Given the description of an element on the screen output the (x, y) to click on. 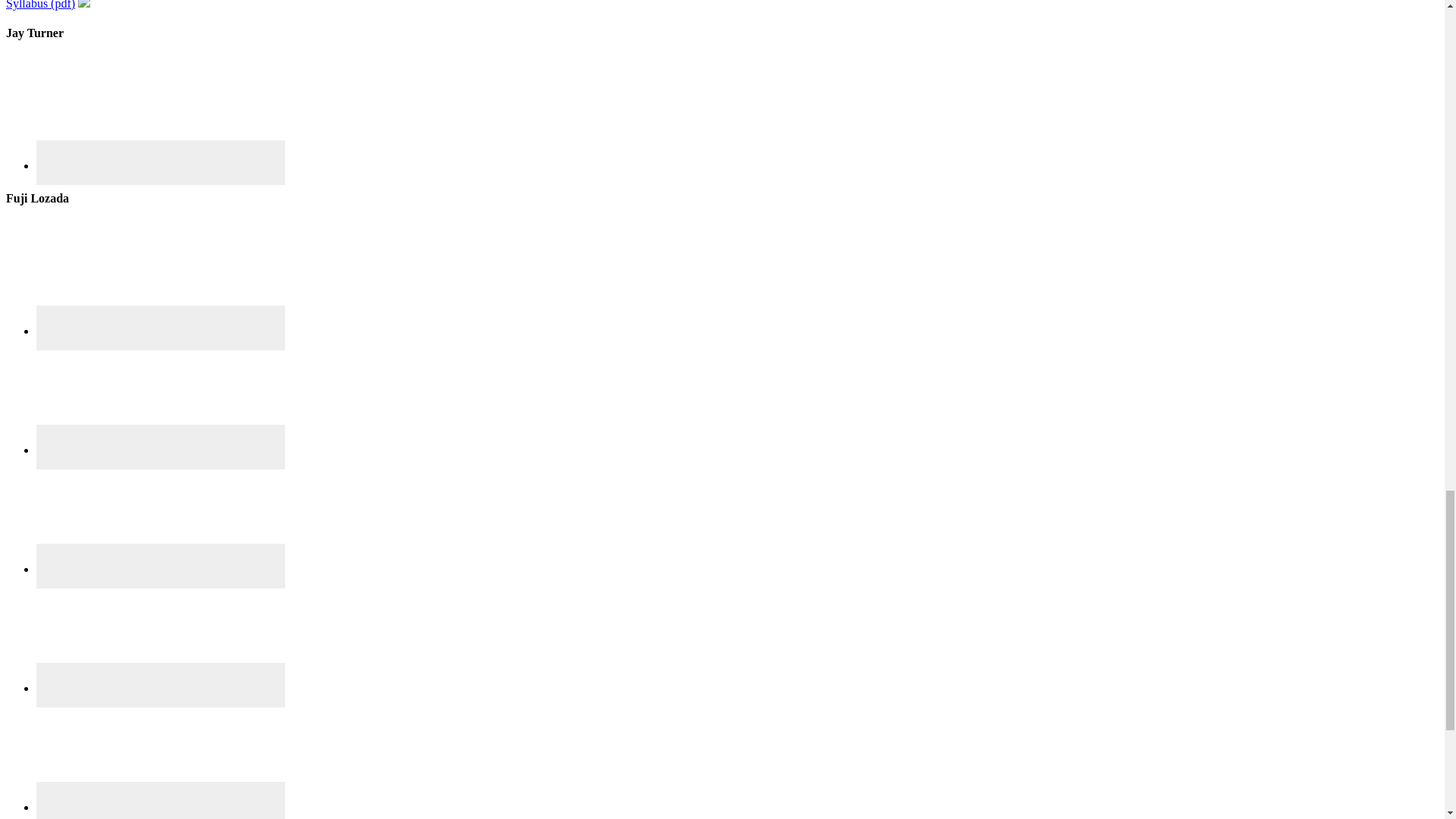
Email (160, 112)
Facebook (160, 447)
Twitter (160, 800)
LinkedIn (160, 516)
Twitter (160, 754)
Facebook (160, 397)
RSS (160, 635)
RSS (160, 684)
Email (160, 327)
Email (160, 277)
Email (160, 162)
LinkedIn (160, 565)
